Given the description of an element on the screen output the (x, y) to click on. 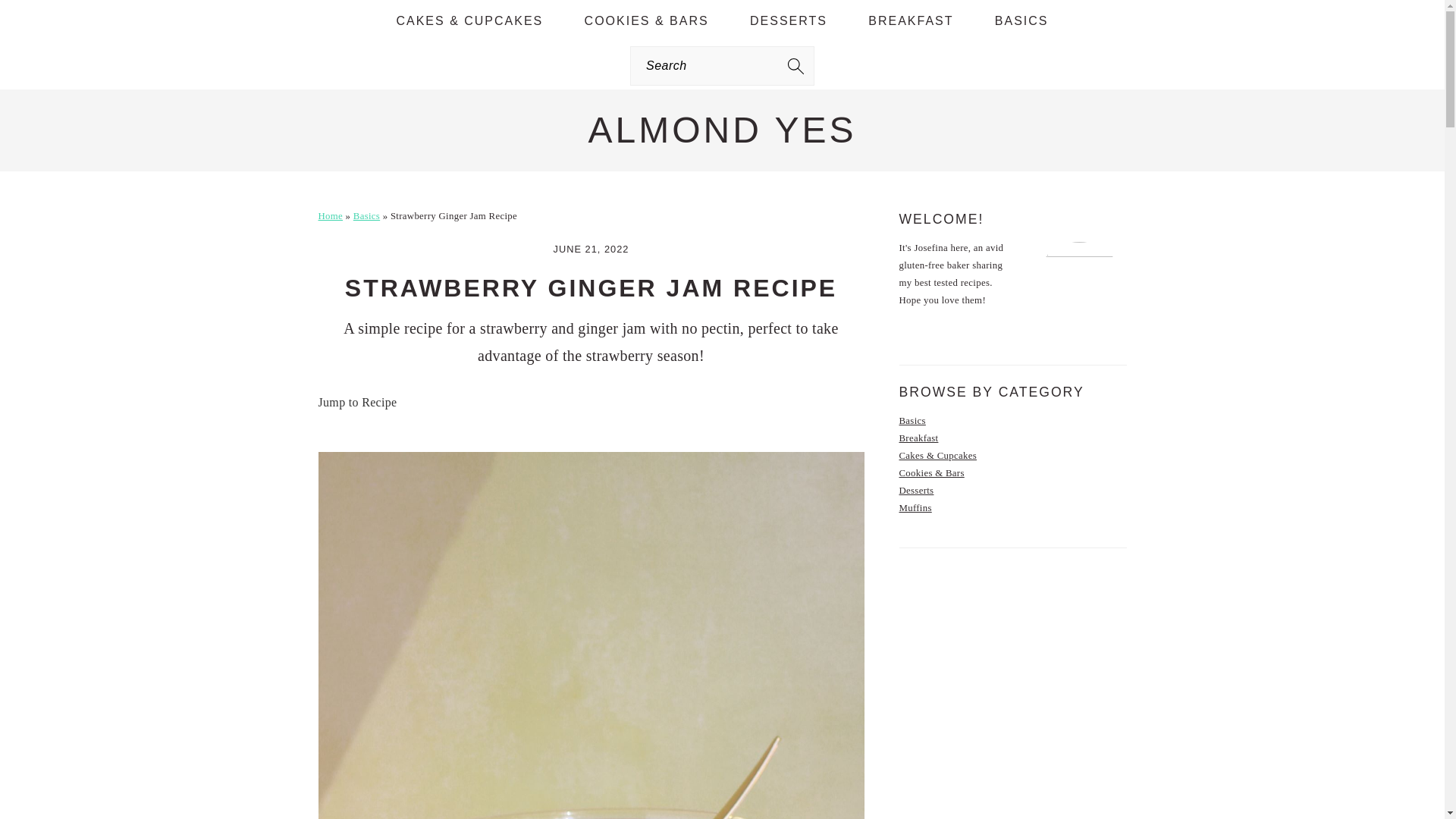
Home (330, 215)
Basics (366, 215)
Jump to Recipe (357, 401)
Breakfast (919, 438)
BASICS (1021, 21)
ALMOND YES (722, 129)
Desserts (916, 490)
Basics (912, 420)
Muffins (915, 507)
DESSERTS (787, 21)
BREAKFAST (910, 21)
Search (275, 19)
